Given the description of an element on the screen output the (x, y) to click on. 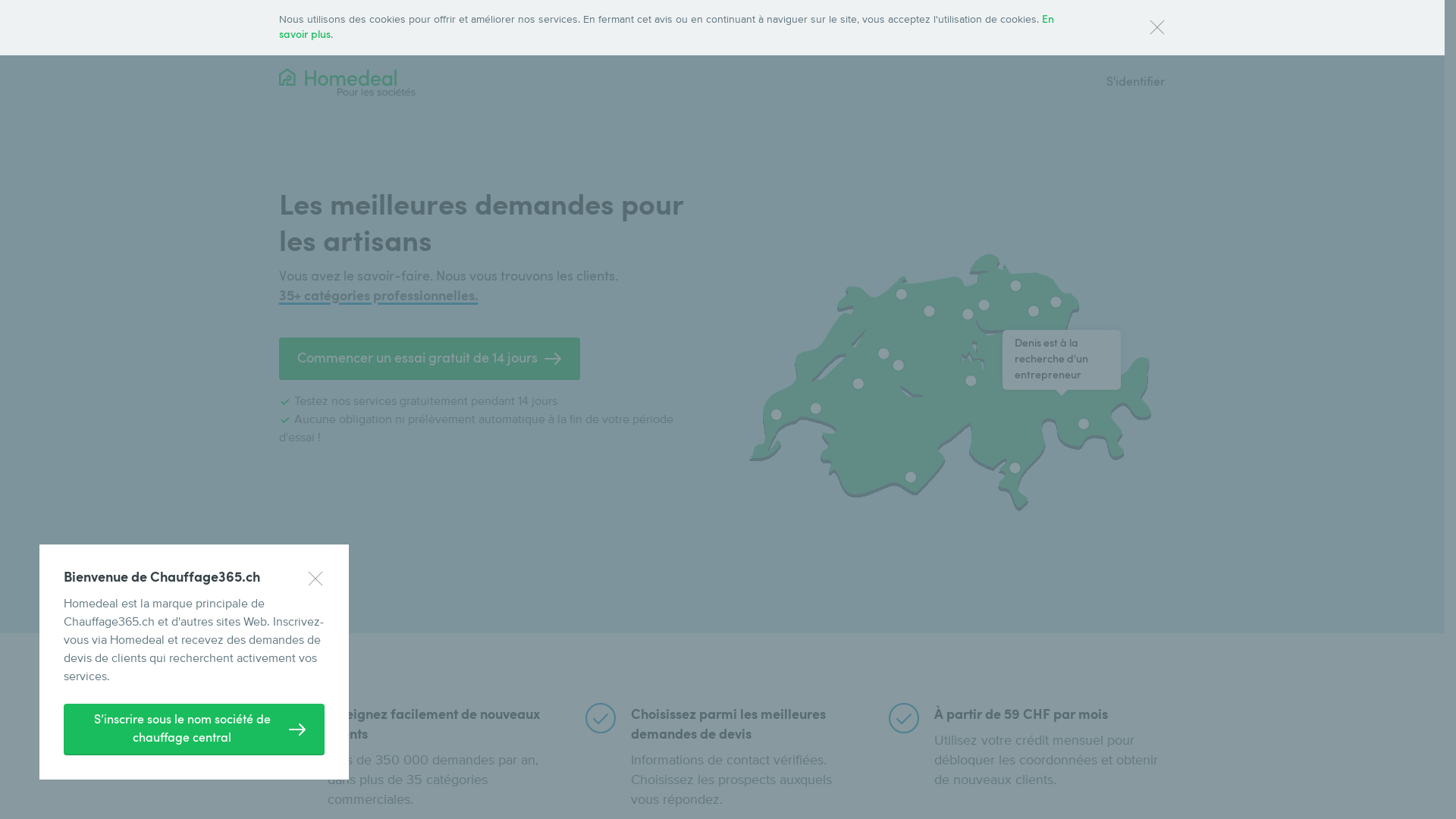
Fermer Element type: hover (1157, 27)
Commencer un essai gratuit de 14 jours Element type: text (429, 358)
S'identifier Element type: text (1134, 81)
En savoir plus Element type: text (666, 27)
